Given the description of an element on the screen output the (x, y) to click on. 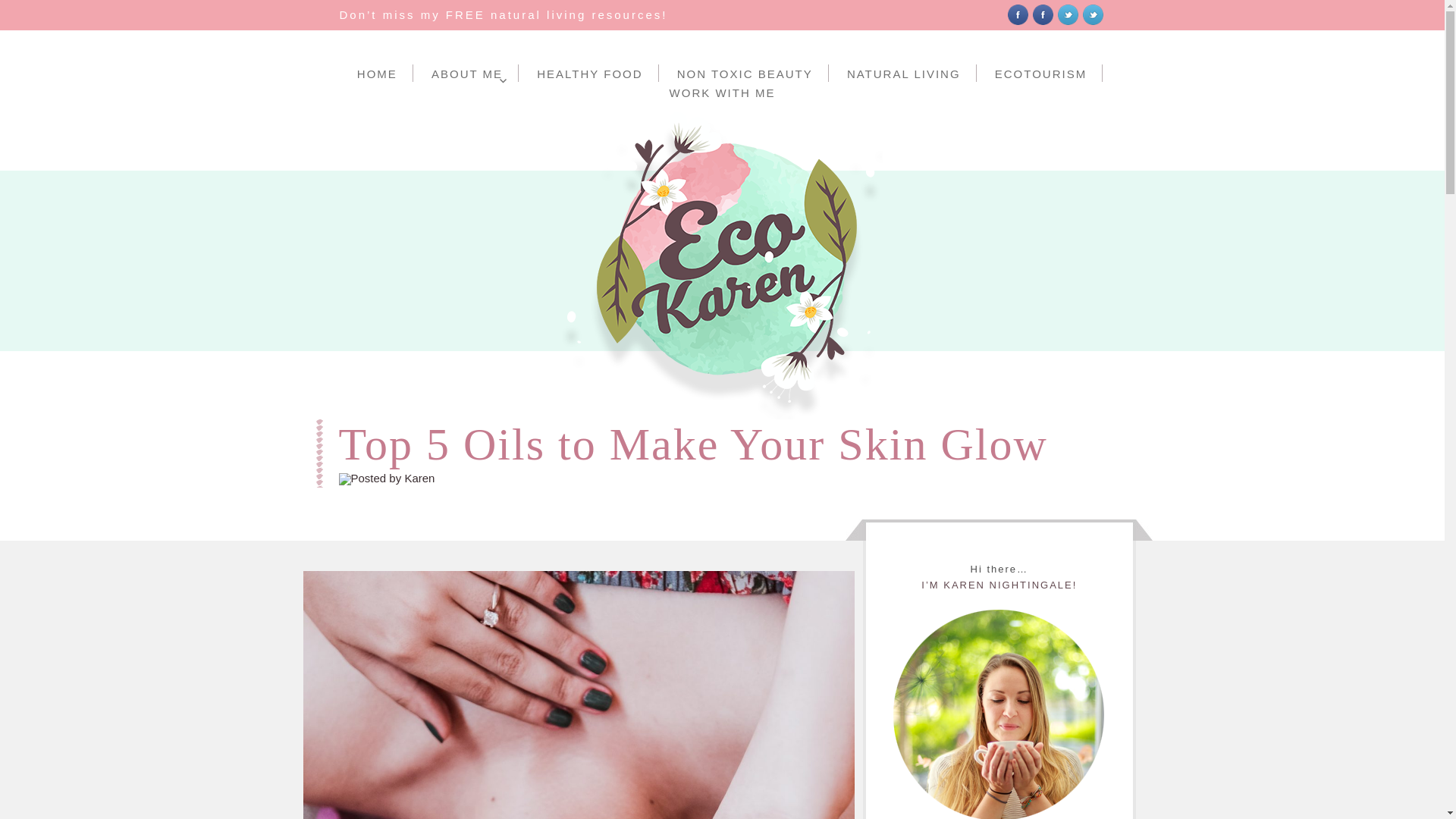
ECOTOURISM (1040, 72)
HEALTHY FOOD (589, 72)
HOME (377, 72)
Facebook (1041, 12)
Facebook (1017, 14)
Facebook (1042, 14)
Facebook (1018, 12)
WORK WITH ME (721, 91)
NON TOXIC BEAUTY (745, 72)
ABOUT ME (467, 72)
Twitter (1067, 12)
NATURAL LIVING (903, 72)
Eco Karen (36, 433)
Twitter (1093, 14)
Twitter (1067, 14)
